Given the description of an element on the screen output the (x, y) to click on. 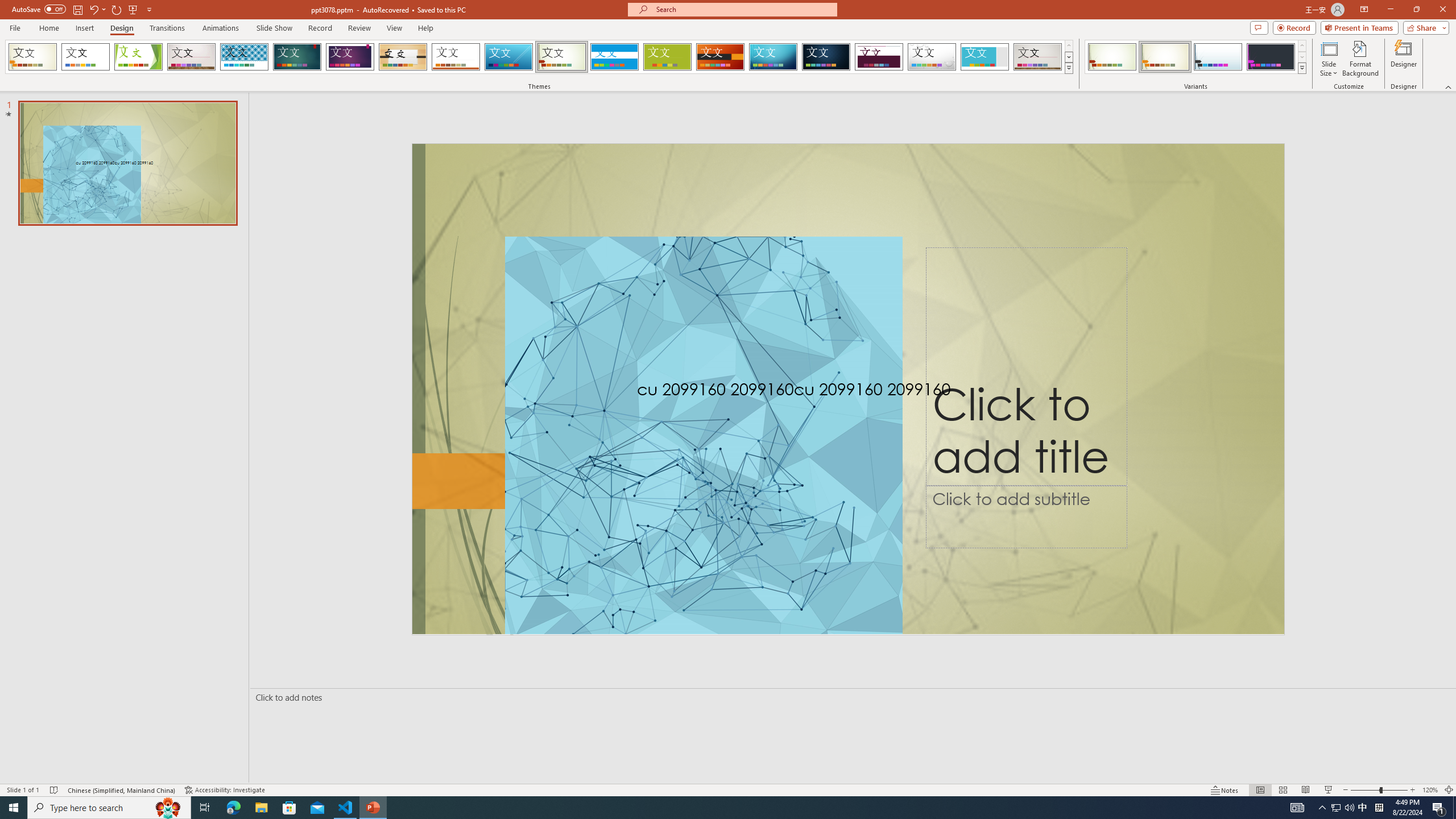
Wisp Variant 4 (1270, 56)
Droplet Loading Preview... (931, 56)
Integral Loading Preview... (244, 56)
Berlin Loading Preview... (720, 56)
Gallery Loading Preview... (1037, 56)
